Given the description of an element on the screen output the (x, y) to click on. 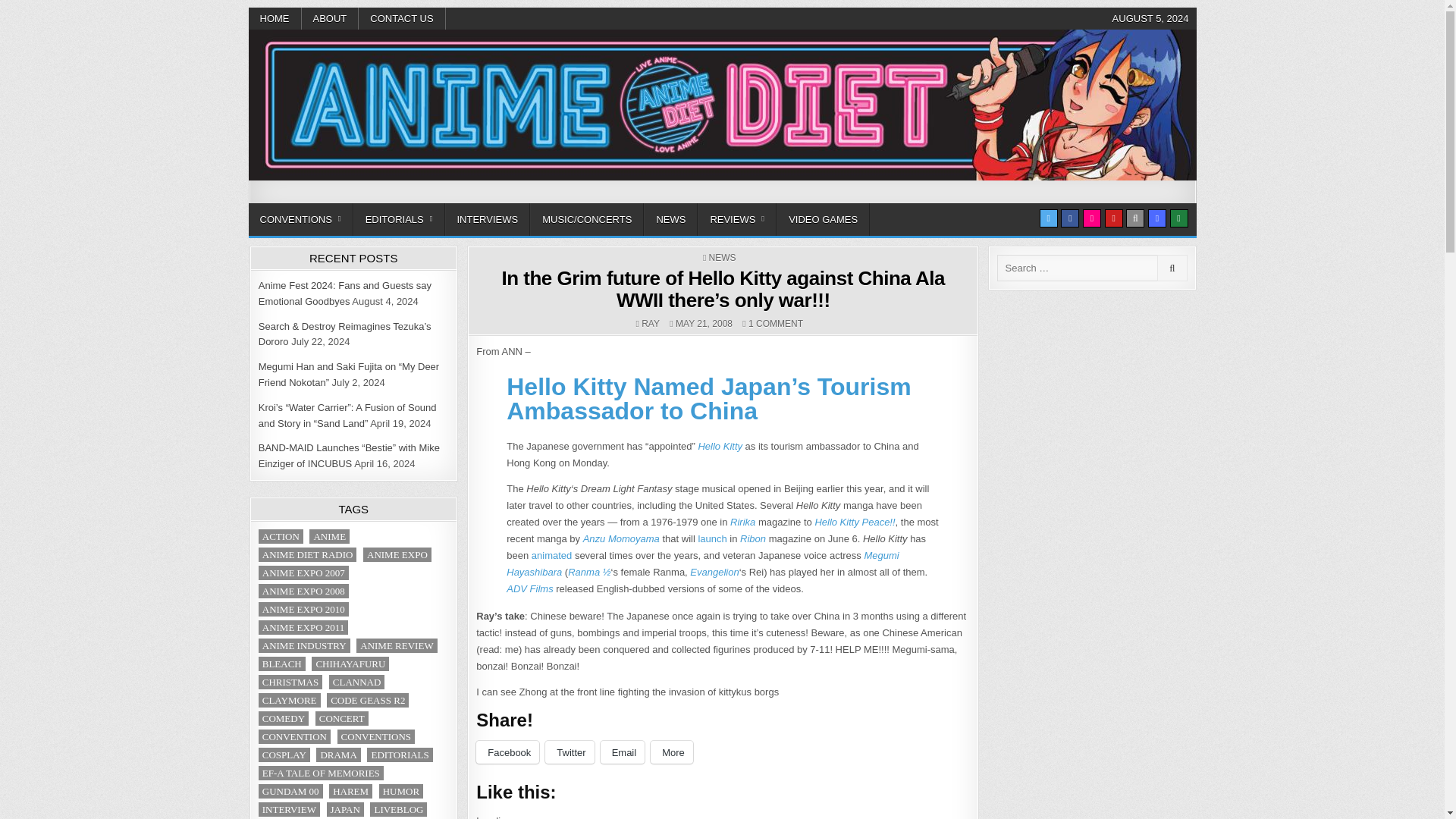
Youtube (1113, 218)
VIDEO GAMES (822, 219)
Click to share on Facebook (507, 752)
Twitter (1048, 218)
EDITORIALS (399, 219)
CONTACT US (401, 18)
Click to email a link to a friend (622, 752)
Facebook (1069, 218)
REVIEWS (736, 219)
Search (1134, 218)
